Given the description of an element on the screen output the (x, y) to click on. 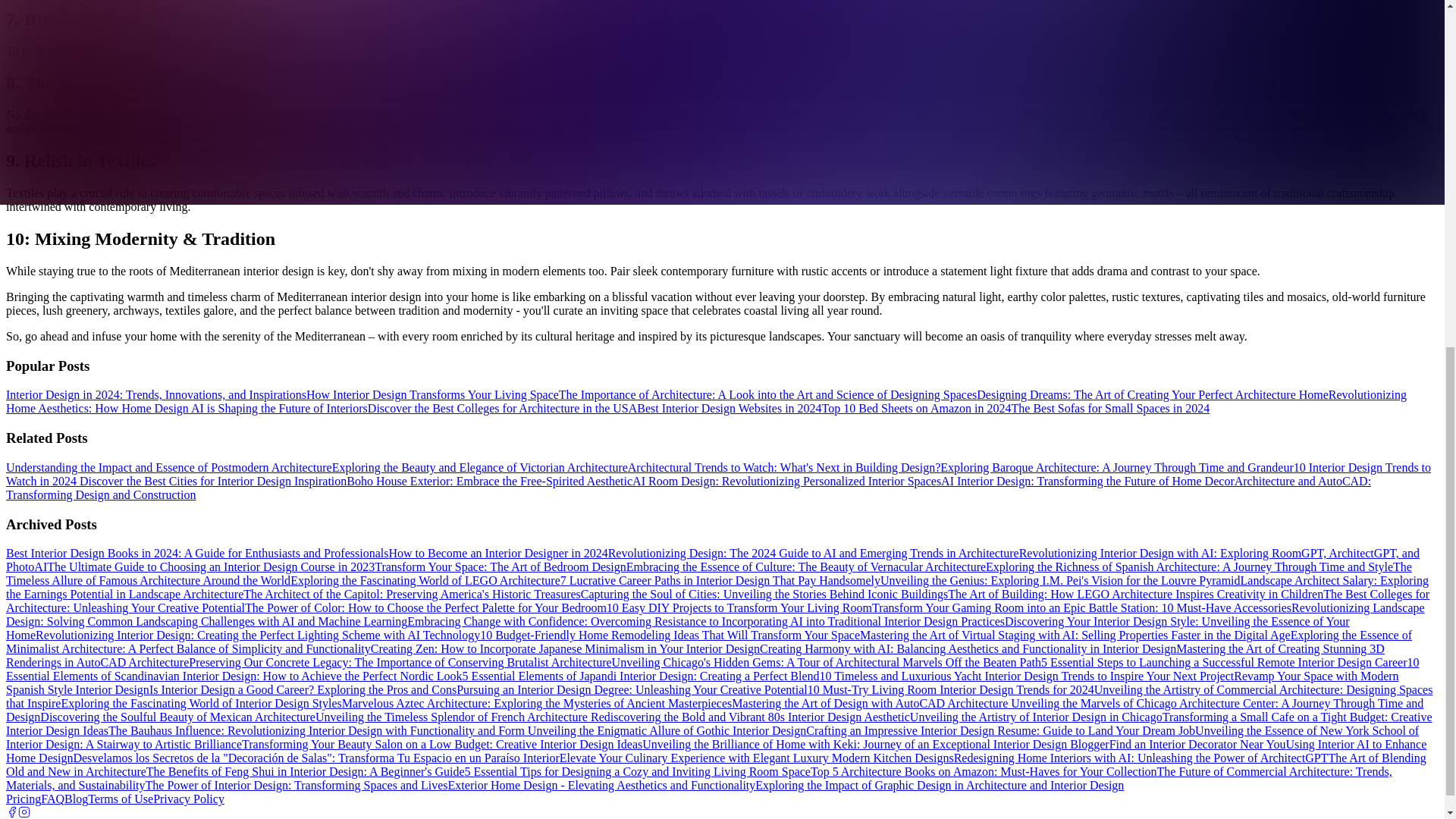
AI Room Design: Revolutionizing Personalized Interior Spaces (785, 481)
Best Interior Design Websites in 2024 (729, 408)
Boho House Exterior: Embrace the Free-Spirited Aesthetic (488, 481)
Discover the Best Cities for Interior Design Inspiration (211, 481)
The Timeless Allure of Famous Architecture Around the World (708, 573)
Transform Your Space: The Art of Bedroom Design (500, 566)
